Given the description of an element on the screen output the (x, y) to click on. 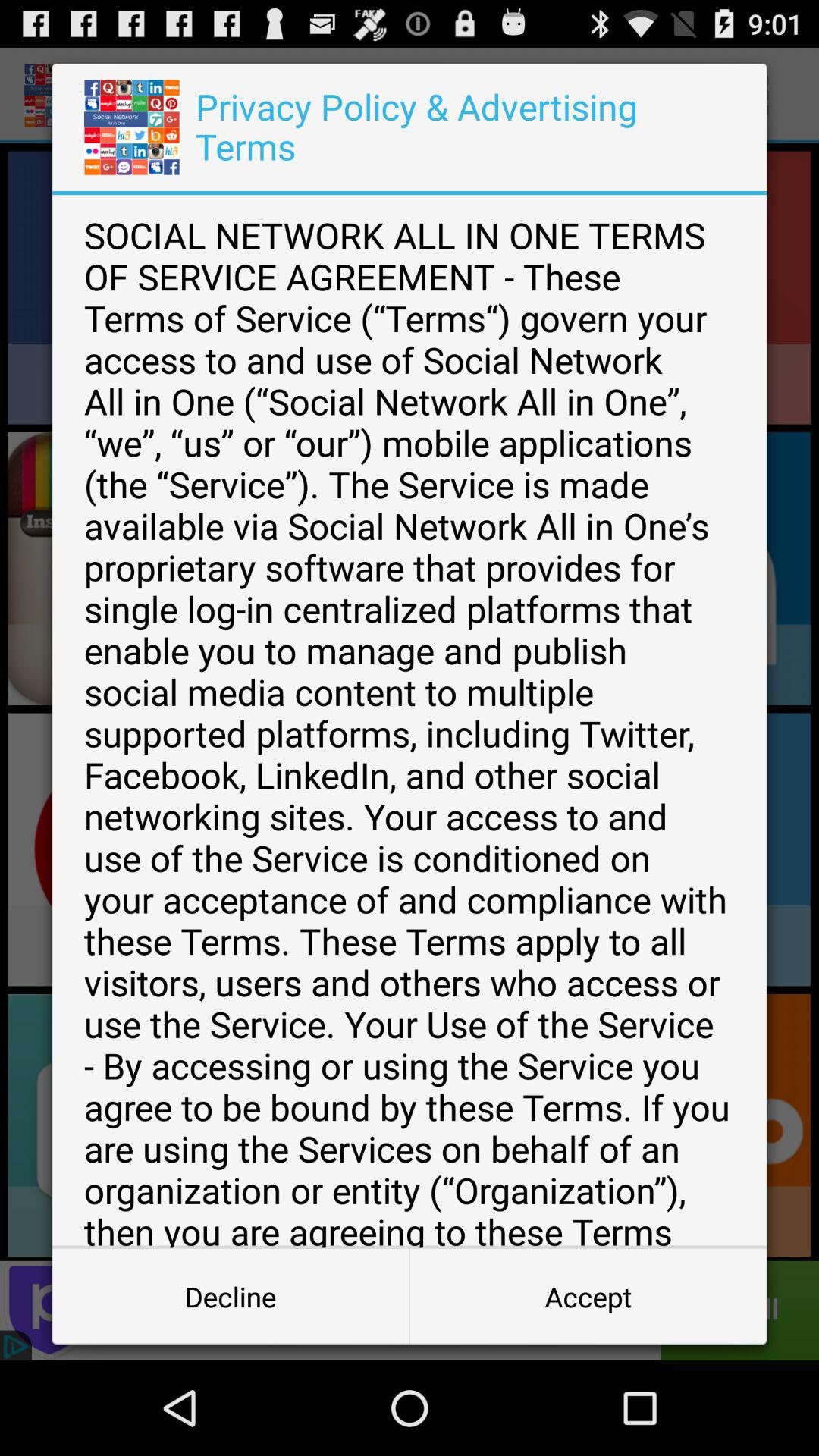
flip to social network all (409, 721)
